Given the description of an element on the screen output the (x, y) to click on. 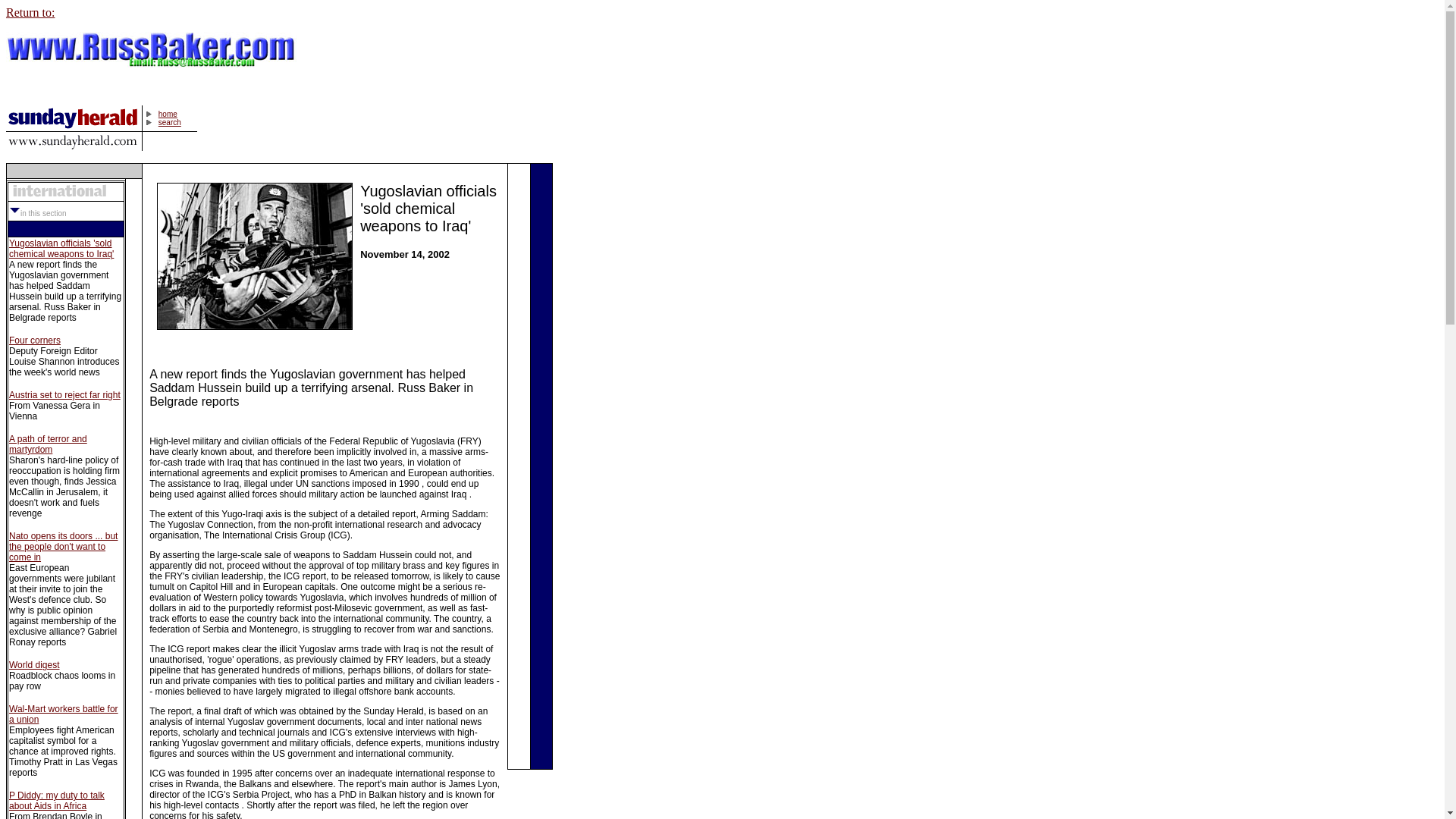
search (169, 121)
Austria set to reject far right (64, 394)
home (167, 113)
Four corners (34, 339)
Click to view the text of this story (60, 248)
Click to view the text of this story (64, 394)
Click to view the text of this story (56, 800)
A path of terror and martyrdom (47, 444)
Click to view the text of this story (62, 713)
Yugoslavian officials 'sold chemical weapons to Iraq' (60, 248)
